Given the description of an element on the screen output the (x, y) to click on. 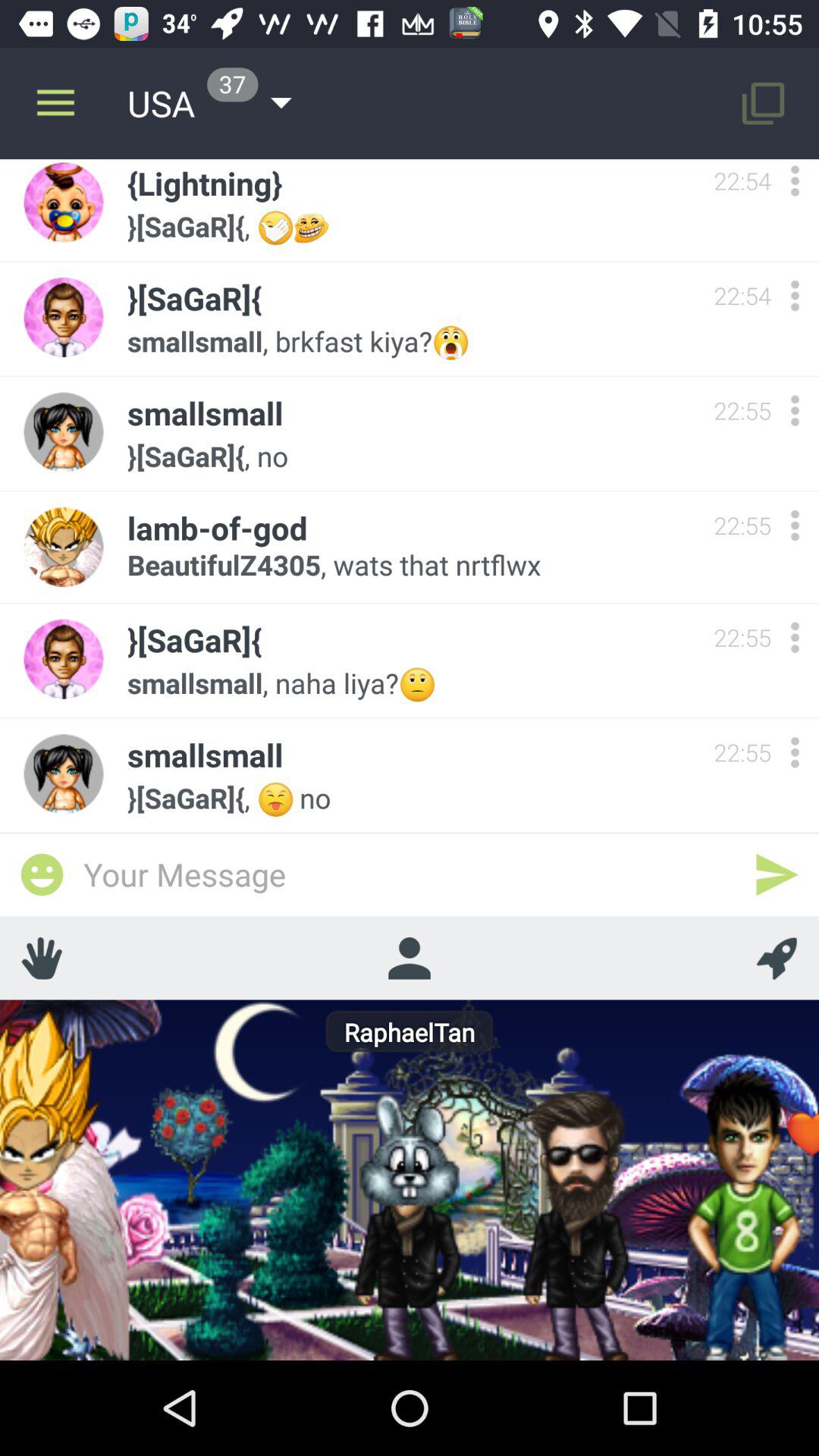
menu icon (795, 410)
